Given the description of an element on the screen output the (x, y) to click on. 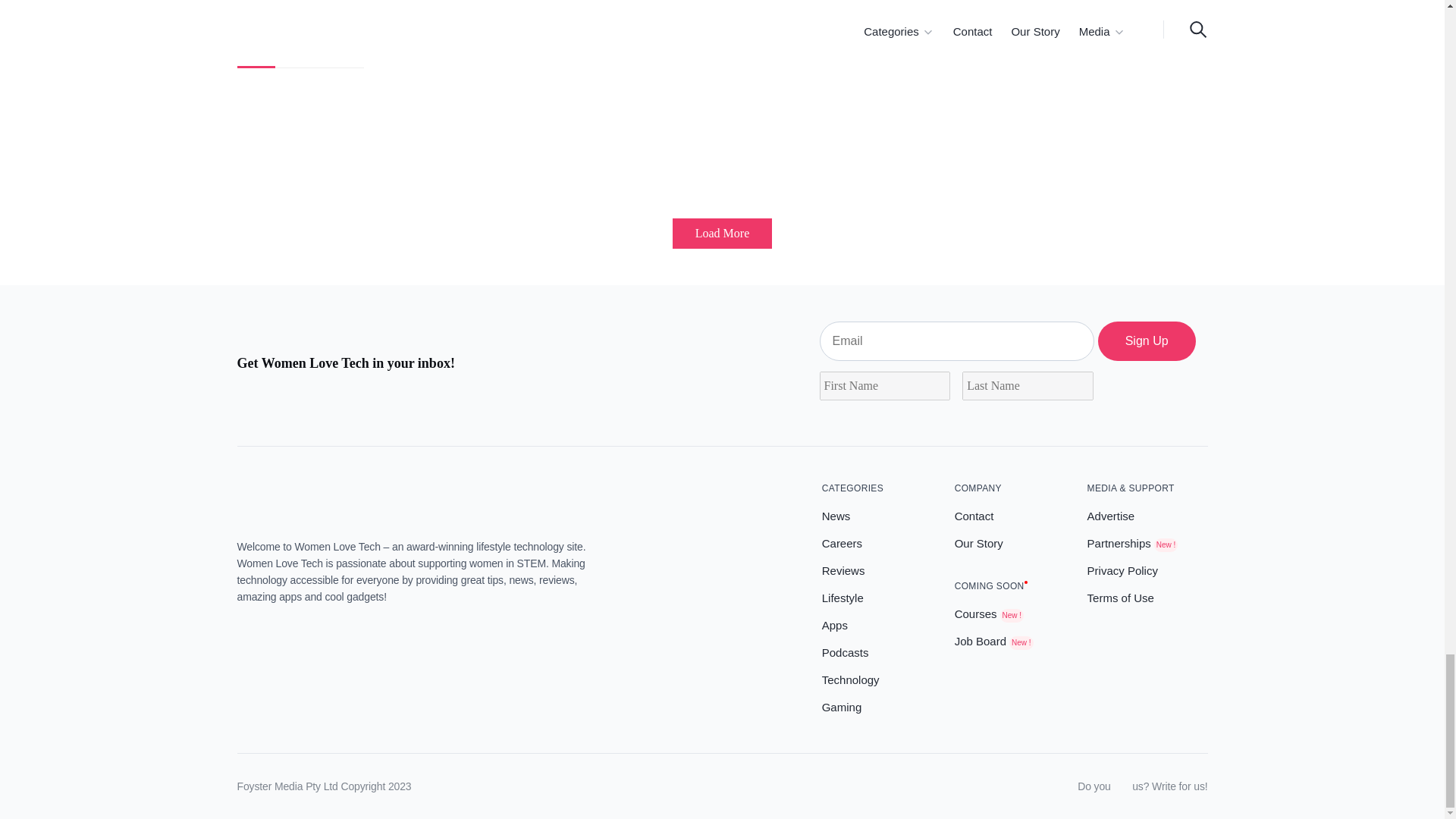
Sign Up (1146, 341)
